Given the description of an element on the screen output the (x, y) to click on. 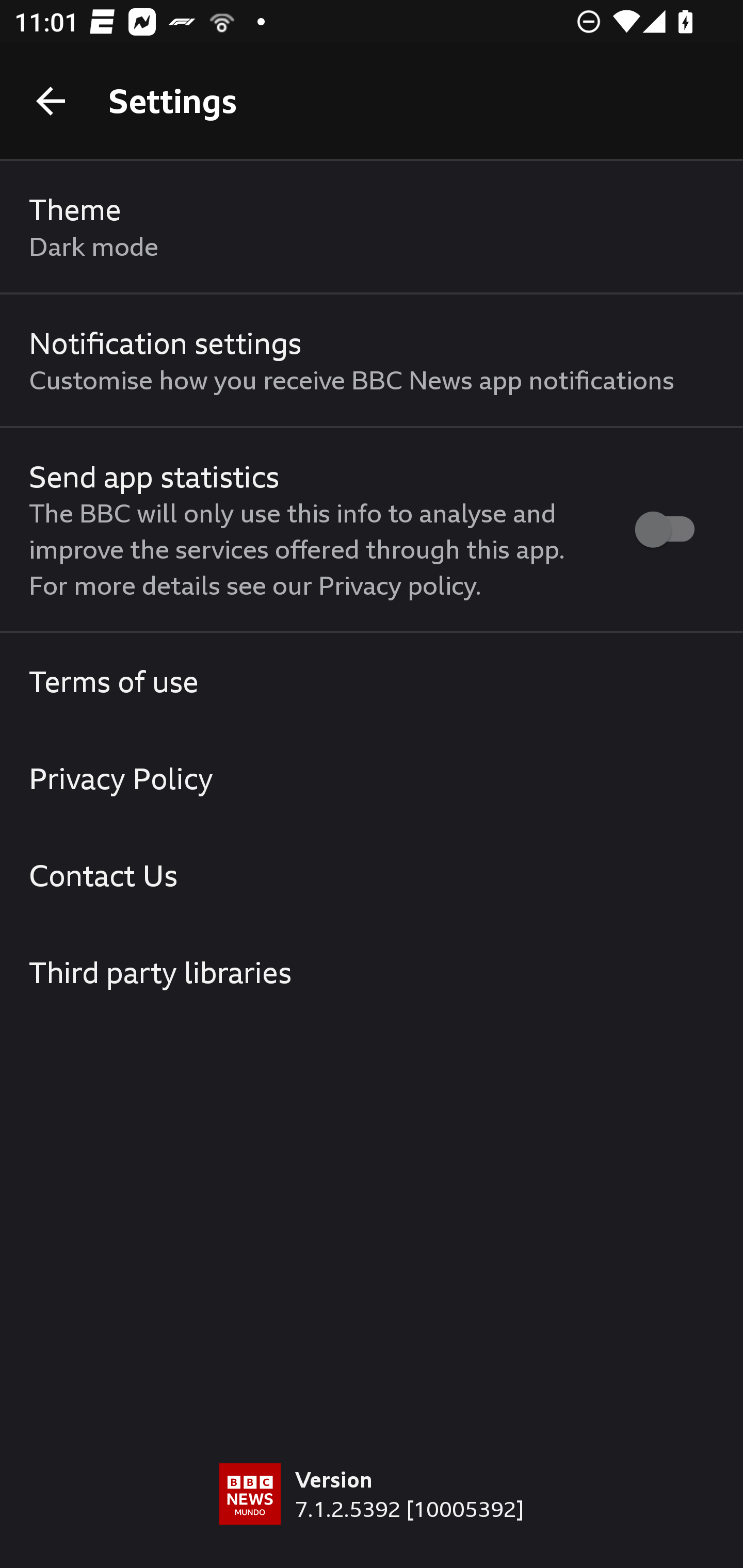
Back (50, 101)
Theme Dark mode (371, 227)
Terms of use (371, 681)
Privacy Policy (371, 777)
Contact Us (371, 874)
Third party libraries (371, 971)
Version 7.1.2.5392 [10005392] (371, 1515)
